Given the description of an element on the screen output the (x, y) to click on. 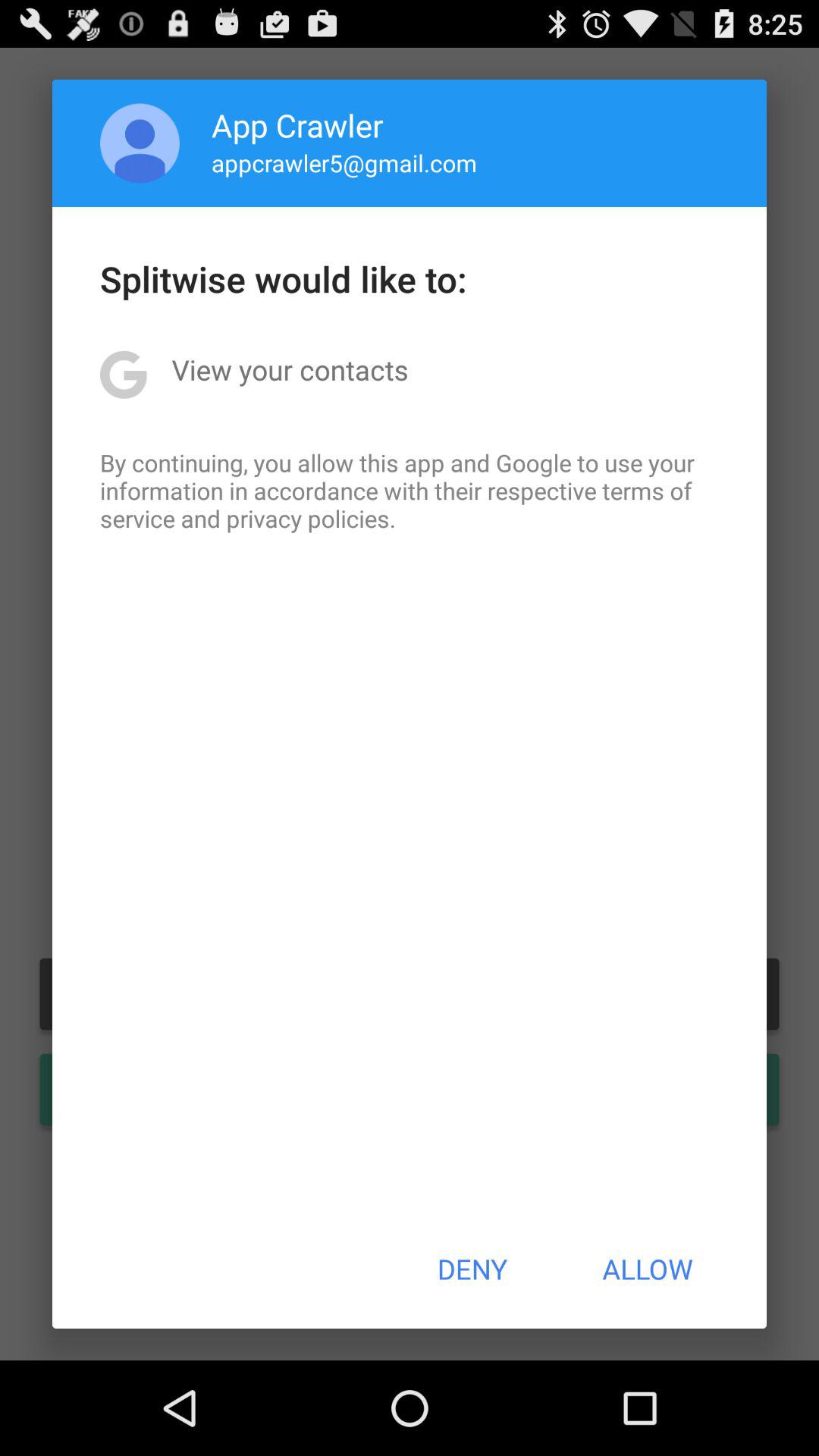
click the app to the left of the app crawler app (139, 143)
